Given the description of an element on the screen output the (x, y) to click on. 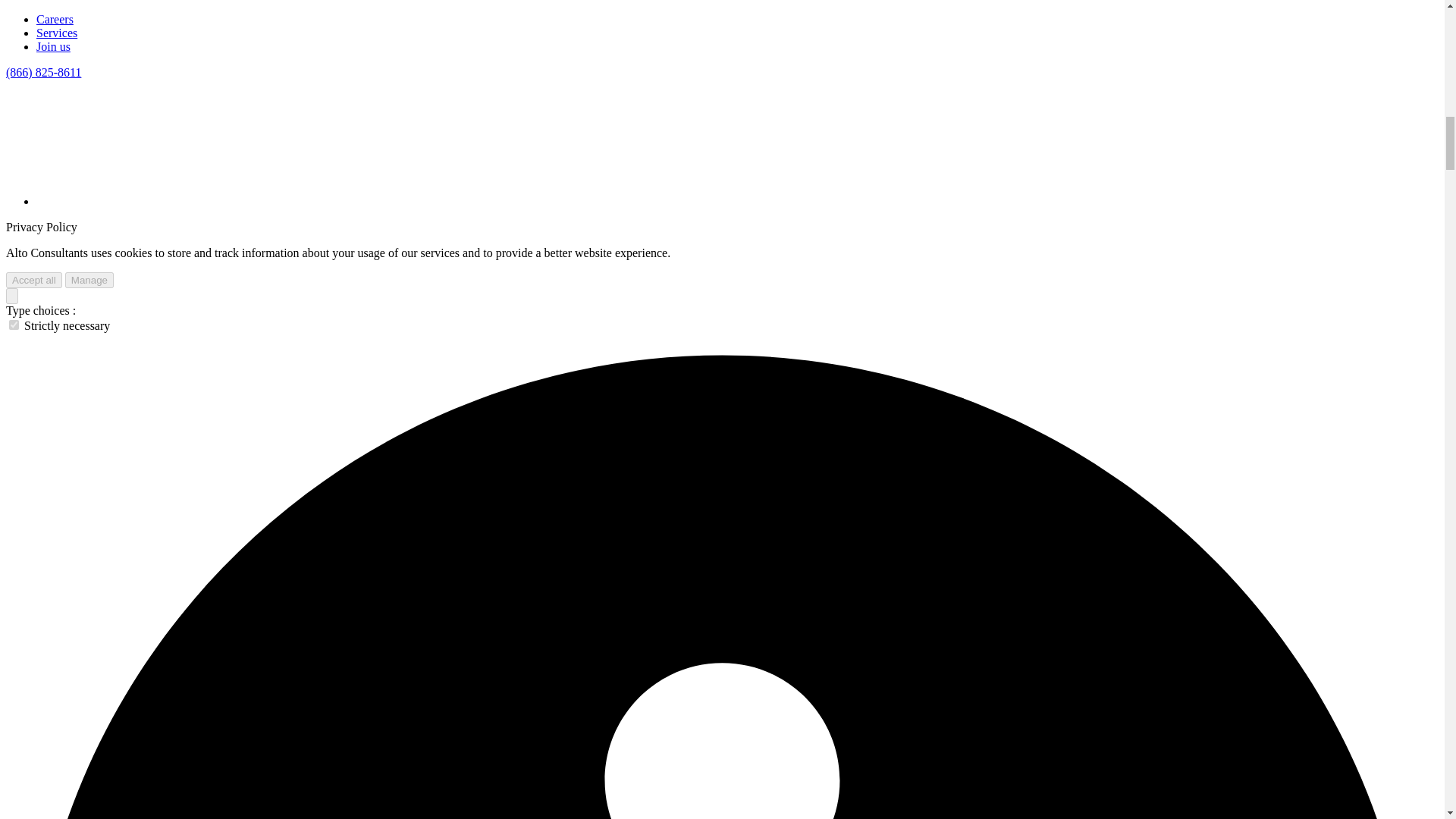
on (13, 325)
Join us (52, 46)
LinkedIn (149, 201)
Careers (55, 19)
Careers (55, 19)
Accept all (33, 279)
Services (56, 32)
Join us (52, 46)
Manage (89, 279)
Call now (43, 72)
